Given the description of an element on the screen output the (x, y) to click on. 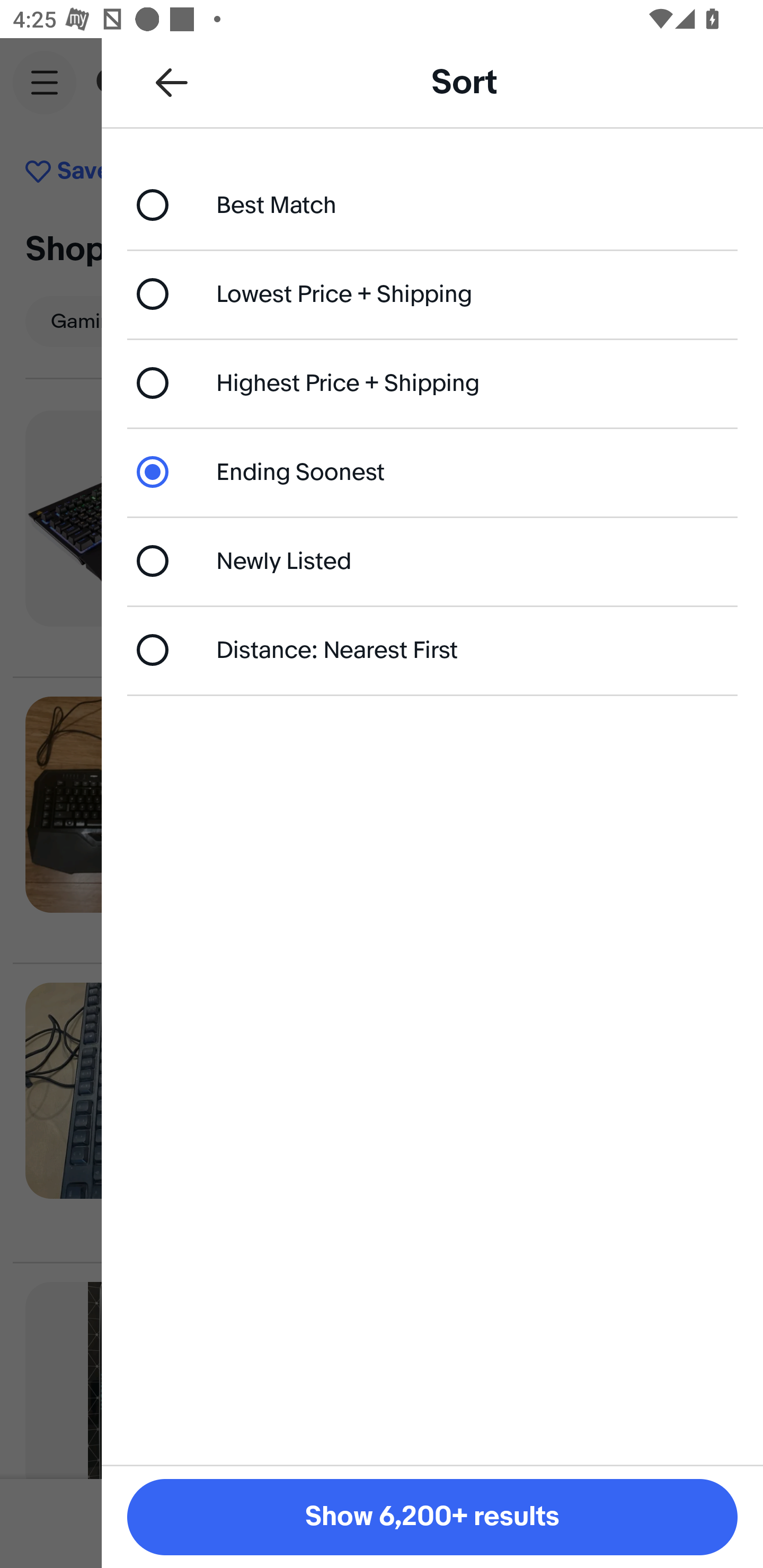
Back to all refinements (171, 81)
Best Match (432, 204)
Lowest Price + Shipping (432, 293)
Highest Price + Shipping (432, 383)
Ending Soonest - currently selected Ending Soonest (432, 471)
Newly Listed (432, 560)
Distance: Nearest First (432, 649)
Show 6,200+ results (432, 1516)
